Given the description of an element on the screen output the (x, y) to click on. 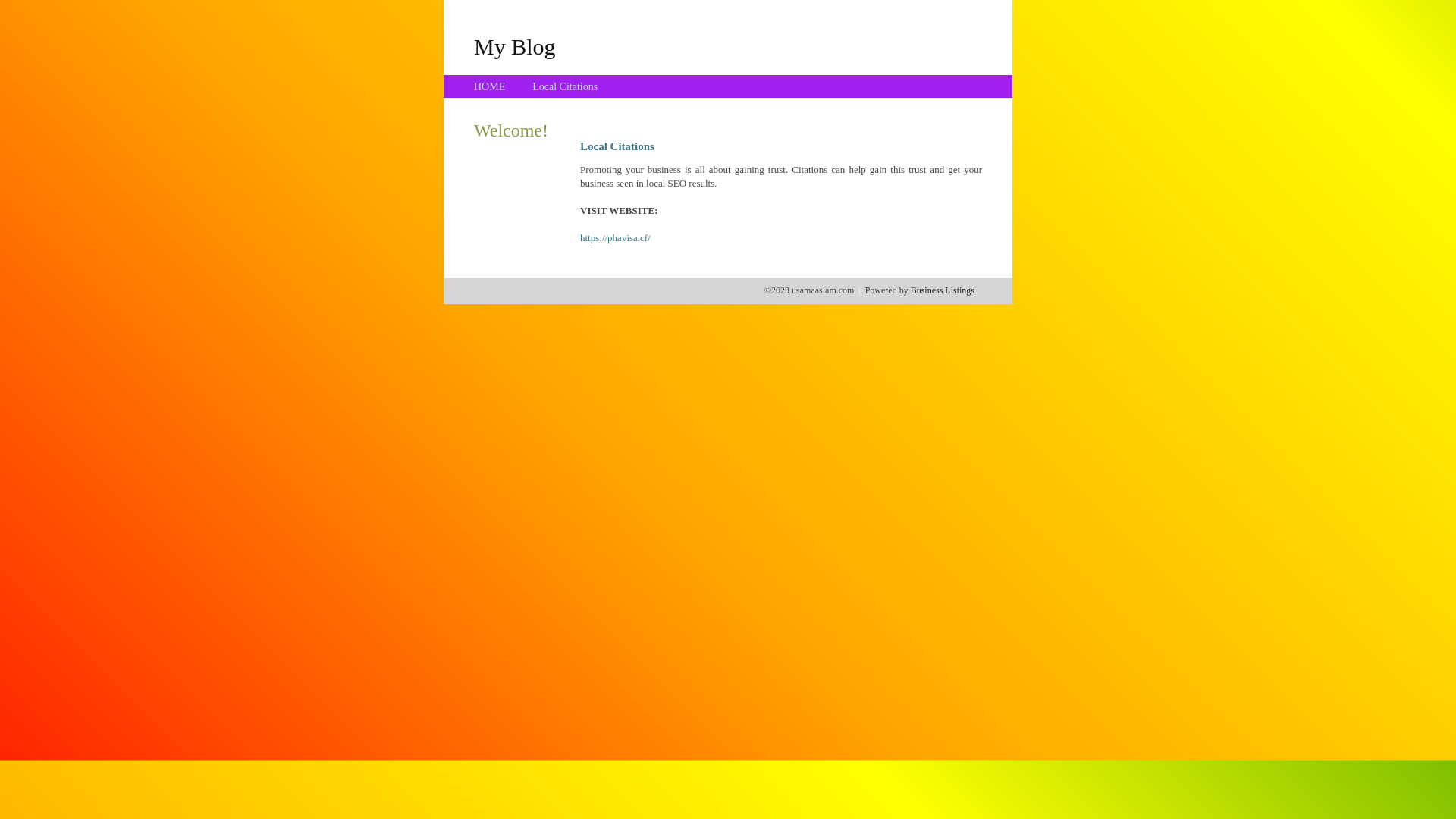
My Blog Element type: text (514, 46)
Local Citations Element type: text (564, 86)
HOME Element type: text (489, 86)
https://phavisa.cf/ Element type: text (615, 237)
Business Listings Element type: text (942, 290)
